Given the description of an element on the screen output the (x, y) to click on. 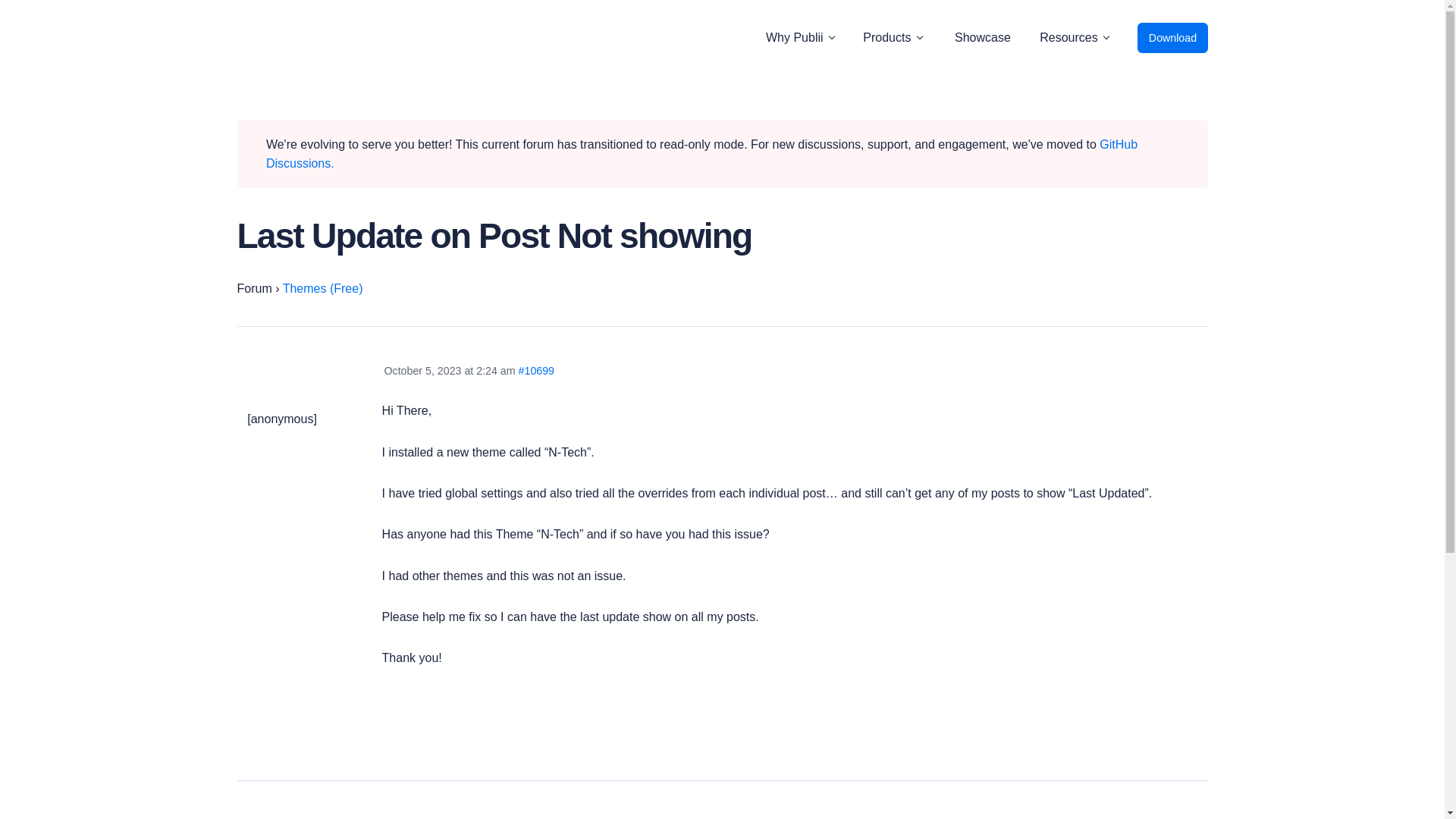
Download (1172, 37)
Forum (252, 287)
Showcase (982, 38)
GitHub Discussions. (701, 154)
